Given the description of an element on the screen output the (x, y) to click on. 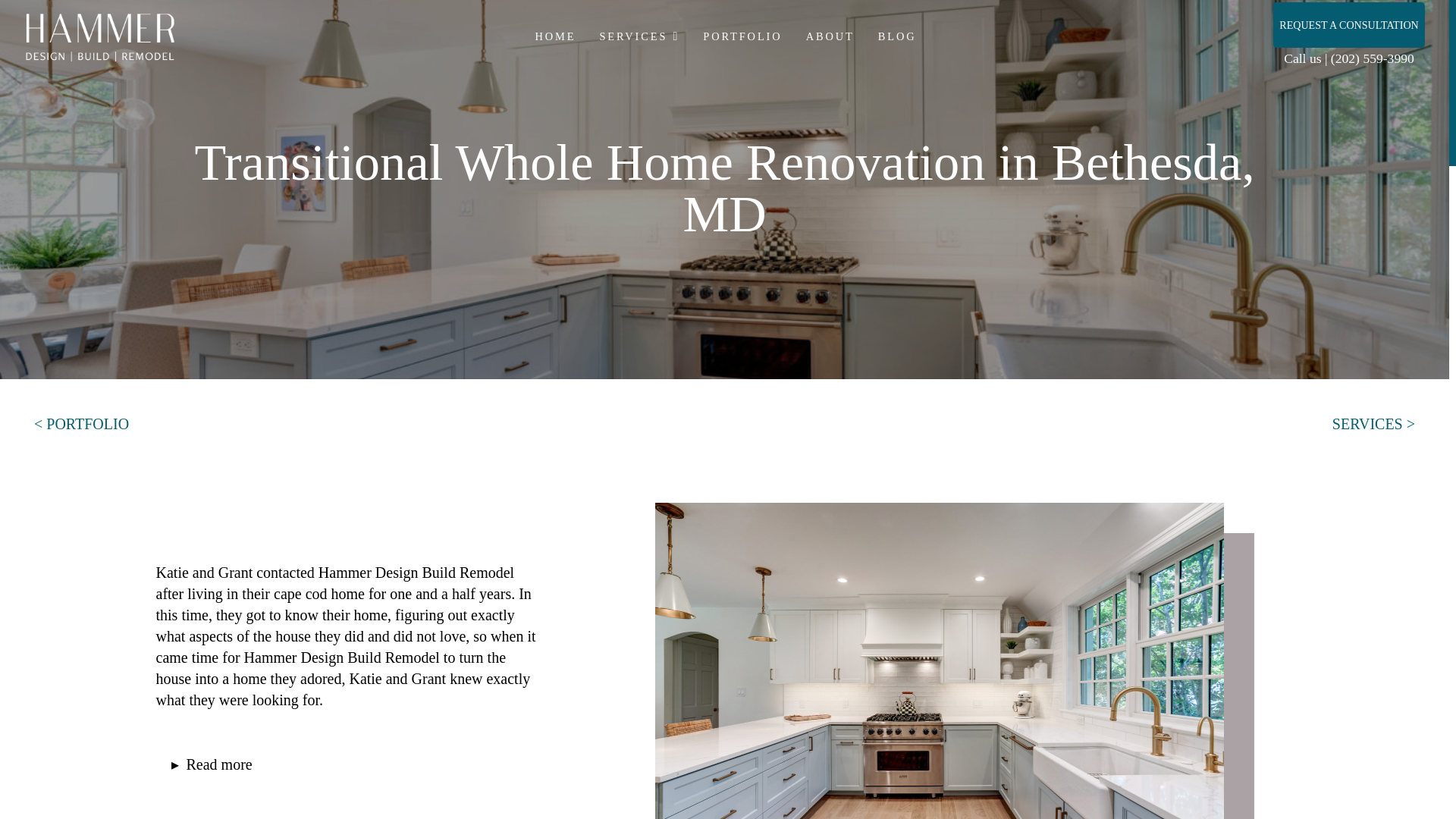
BLOG (895, 36)
HOME (553, 36)
PORTFOLIO (741, 36)
SERVICES (638, 36)
ABOUT (828, 36)
